Given the description of an element on the screen output the (x, y) to click on. 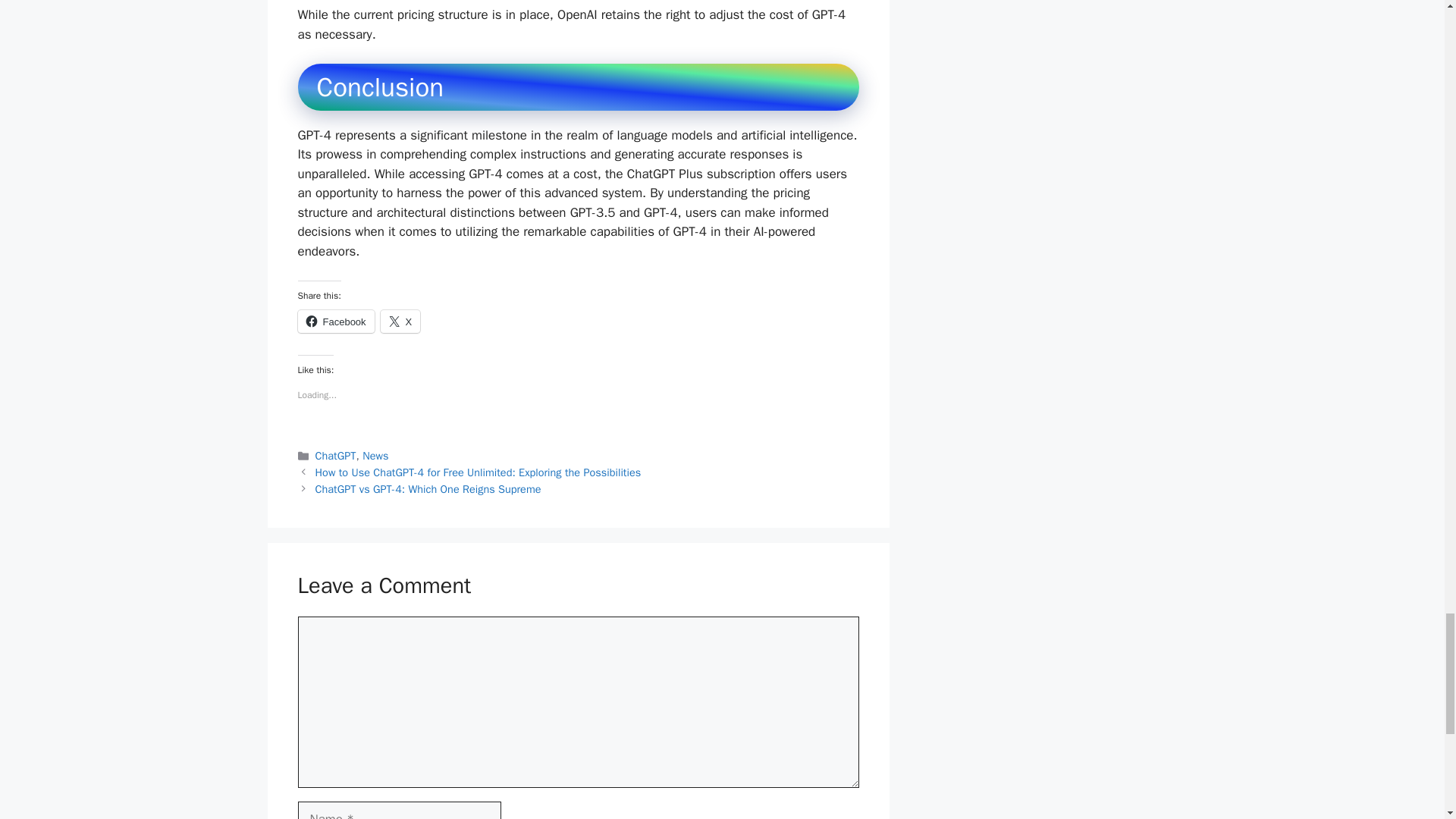
X (400, 321)
ChatGPT (335, 455)
Click to share on X (400, 321)
News (375, 455)
ChatGPT vs GPT-4: Which One Reigns Supreme (428, 489)
Facebook (335, 321)
Click to share on Facebook (335, 321)
